Given the description of an element on the screen output the (x, y) to click on. 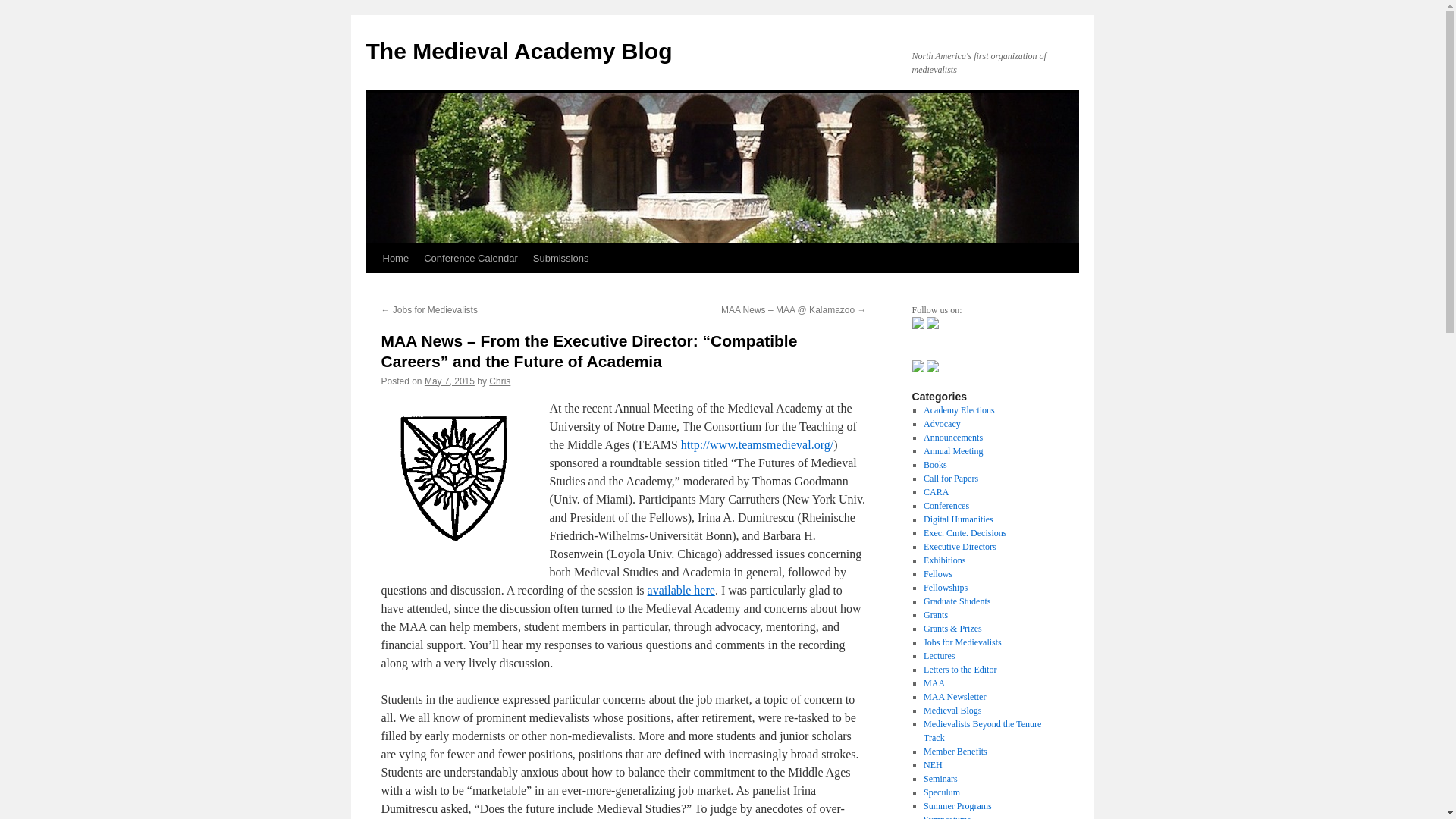
The Medieval Academy Blog (518, 50)
Chris (500, 380)
May 7, 2015 (449, 380)
View all posts by Chris (500, 380)
Exec. Cmte. Decisions (964, 532)
Call for Papers (950, 478)
Digital Humanities (957, 519)
Announcements (952, 437)
Conference Calendar (470, 258)
Submissions (560, 258)
